Given the description of an element on the screen output the (x, y) to click on. 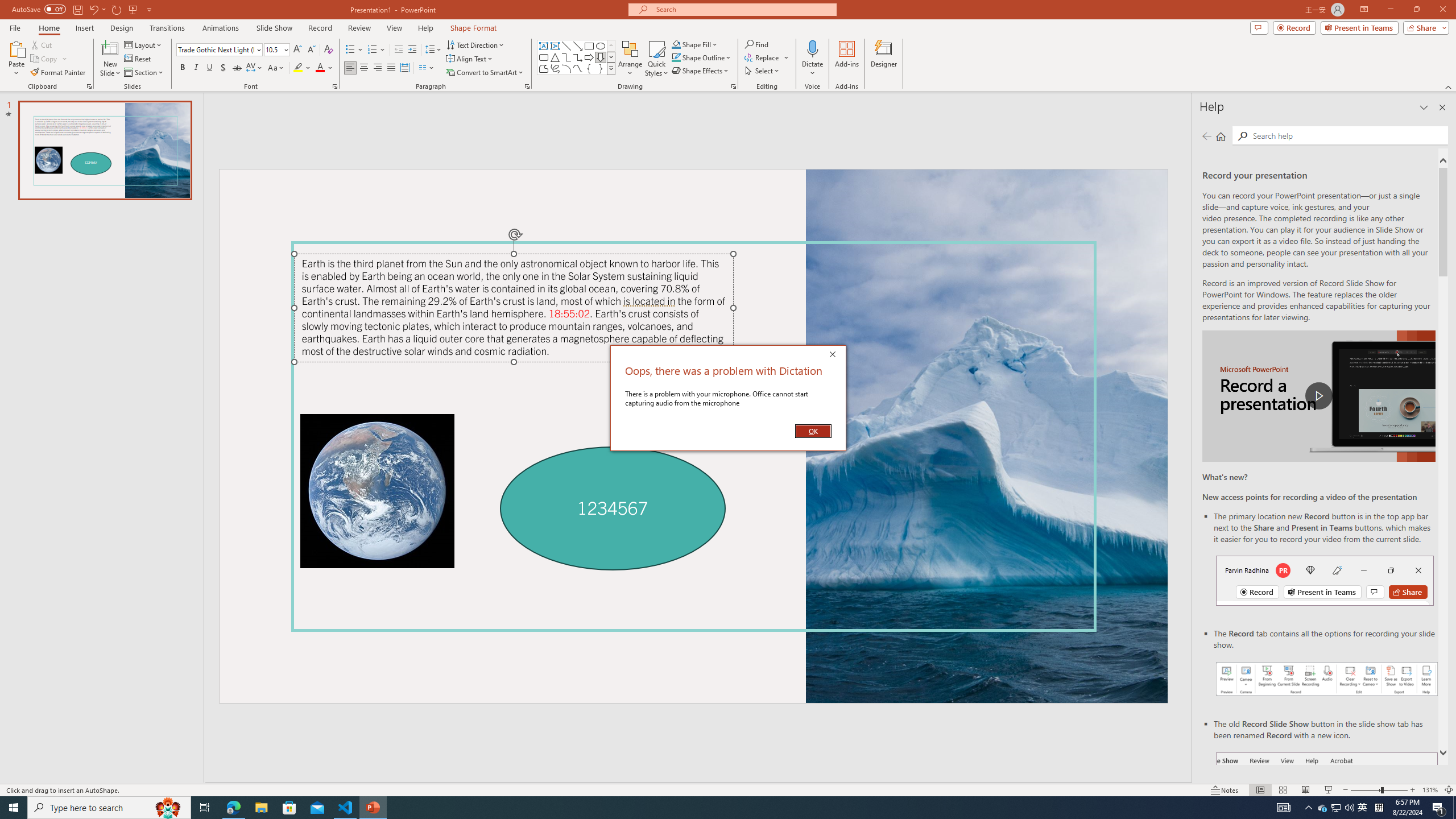
Microsoft Edge - 1 running window (233, 807)
Collapse the Ribbon (1448, 86)
Designer (883, 58)
Font (215, 49)
